Given the description of an element on the screen output the (x, y) to click on. 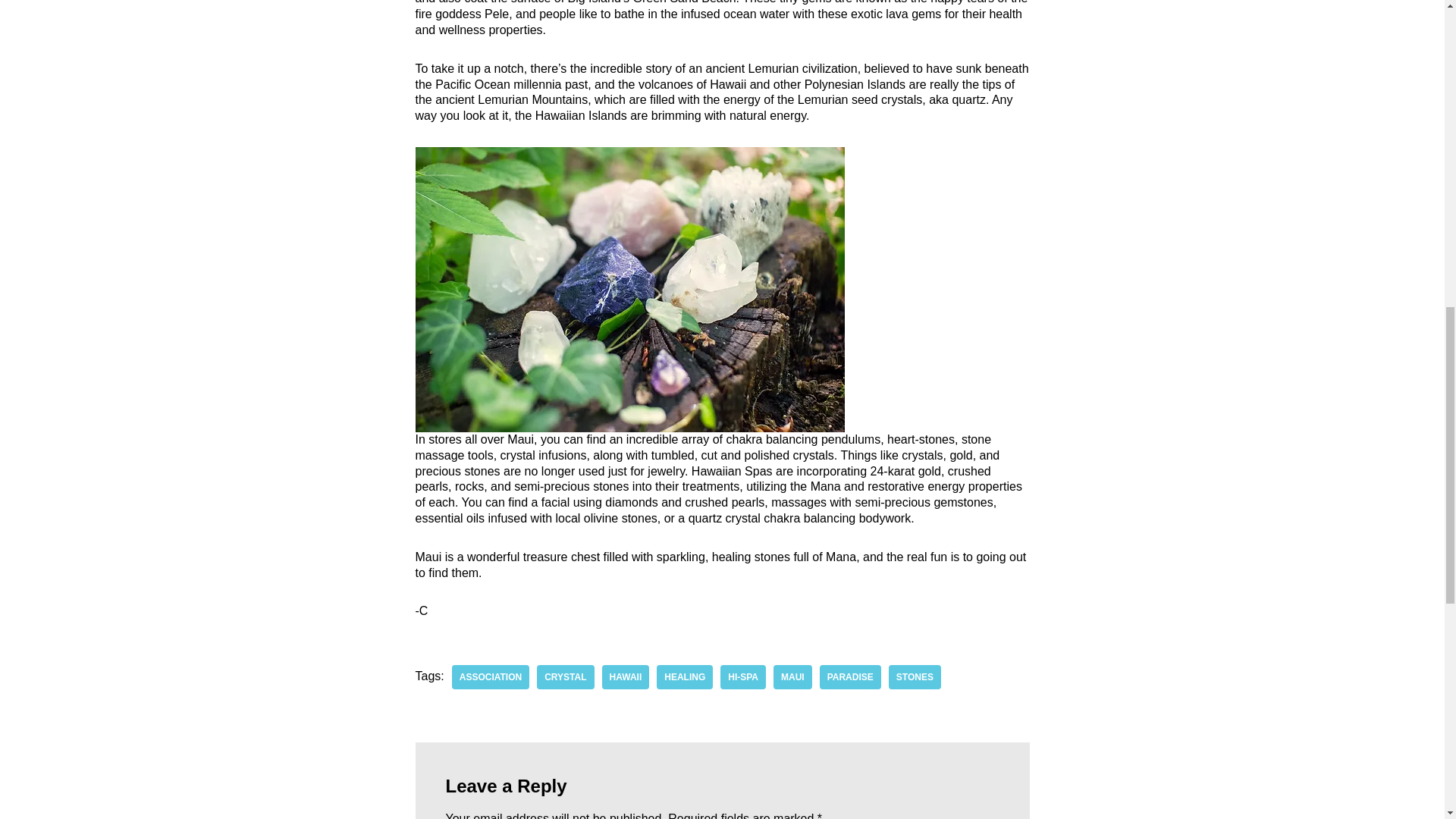
hi-spa (742, 677)
PARADISE (849, 677)
STONES (914, 677)
crystal (565, 677)
HI-SPA (742, 677)
healing (684, 677)
HEALING (684, 677)
hawaii (625, 677)
paradise (849, 677)
MAUI (792, 677)
ASSOCIATION (490, 677)
CRYSTAL (565, 677)
maui (792, 677)
association (490, 677)
HAWAII (625, 677)
